Given the description of an element on the screen output the (x, y) to click on. 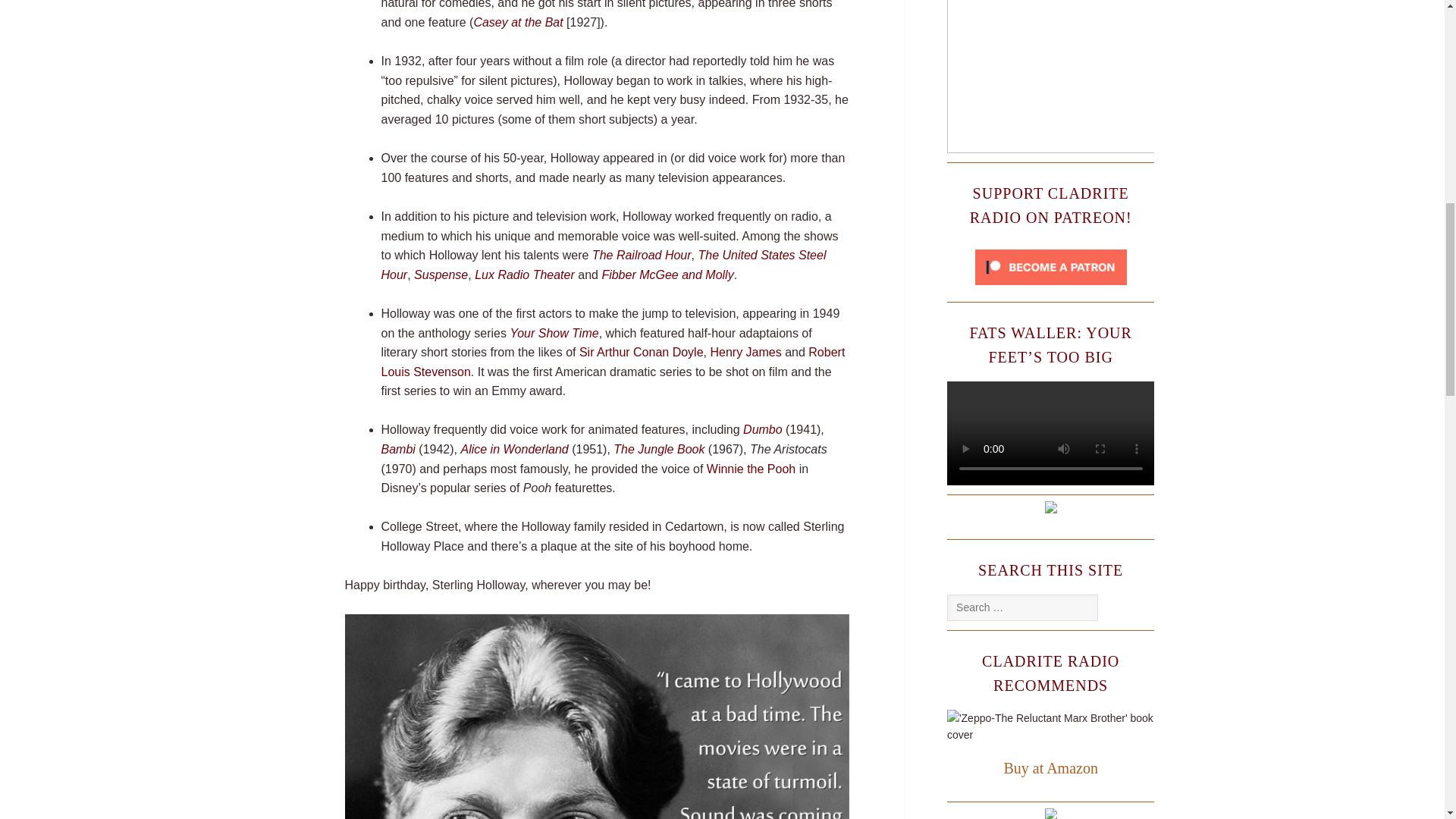
Casey at the Bat (517, 21)
Suspense (440, 274)
The United States Steel Hour (602, 264)
Henry James (745, 351)
Fibber McGee and Molly (667, 274)
Sir Arthur Conan Doyle (641, 351)
The Railroad Hour (641, 254)
Lux Radio Theater (524, 274)
Your Show Time (553, 332)
